Given the description of an element on the screen output the (x, y) to click on. 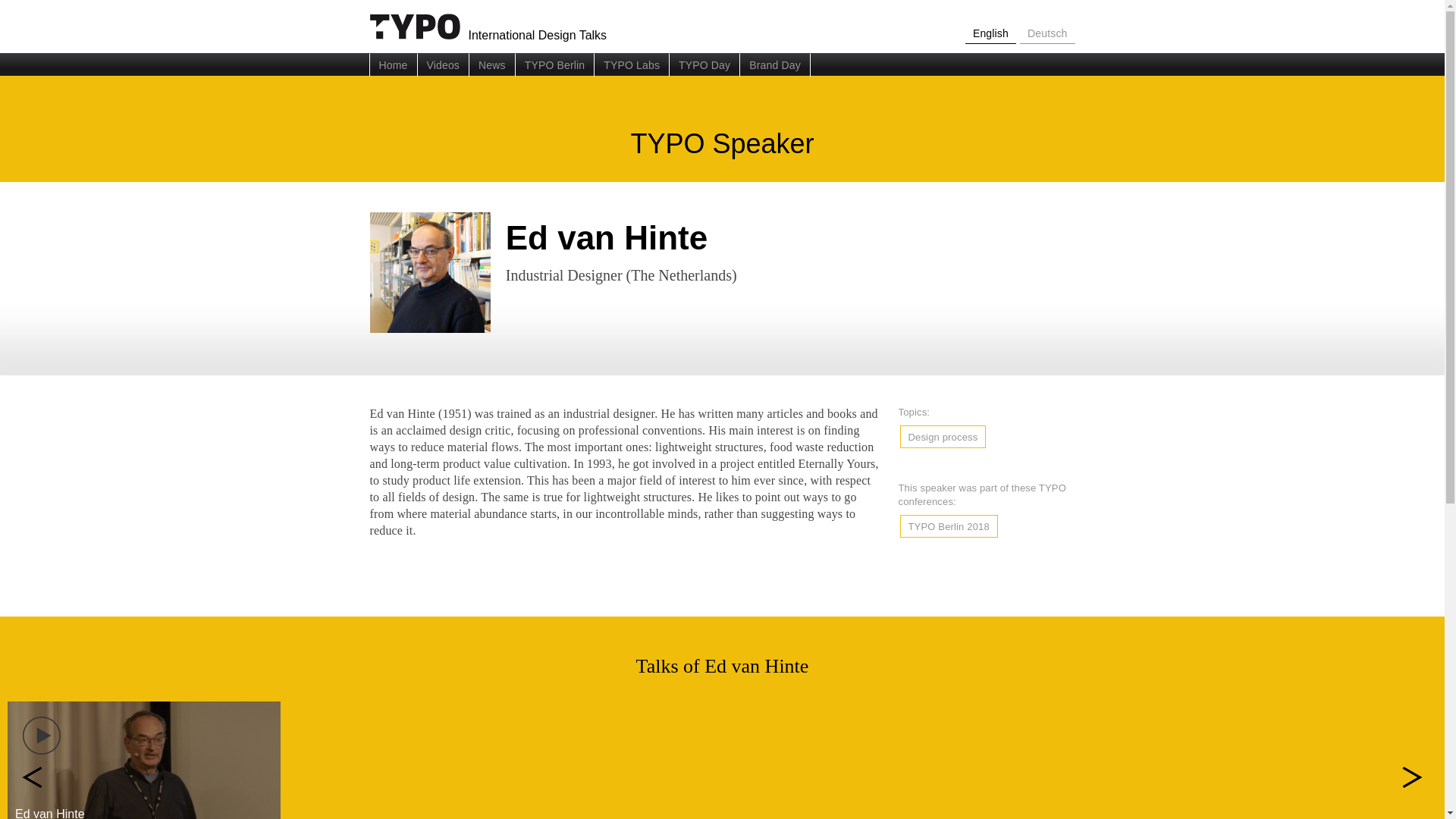
Brand Day (774, 64)
TYPO Labs (631, 64)
Design process (942, 436)
Videos (443, 64)
TYPO Day (703, 64)
TYPO Berlin 2018 (948, 526)
 Deutsch (1047, 35)
 English (990, 35)
Home (392, 64)
TYPO Berlin (555, 64)
News (491, 64)
